Given the description of an element on the screen output the (x, y) to click on. 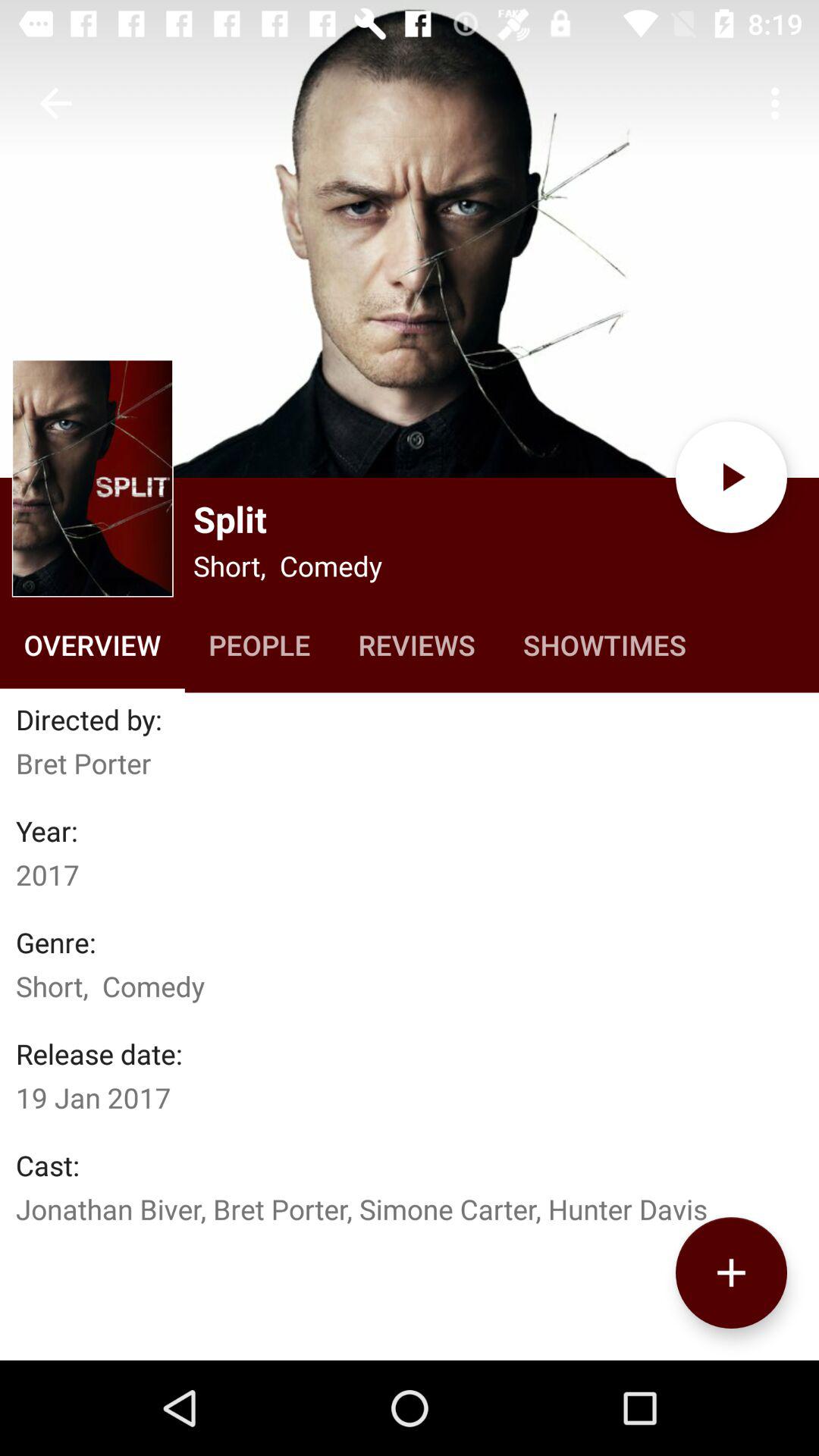
select the icon above the overview icon (92, 478)
